Given the description of an element on the screen output the (x, y) to click on. 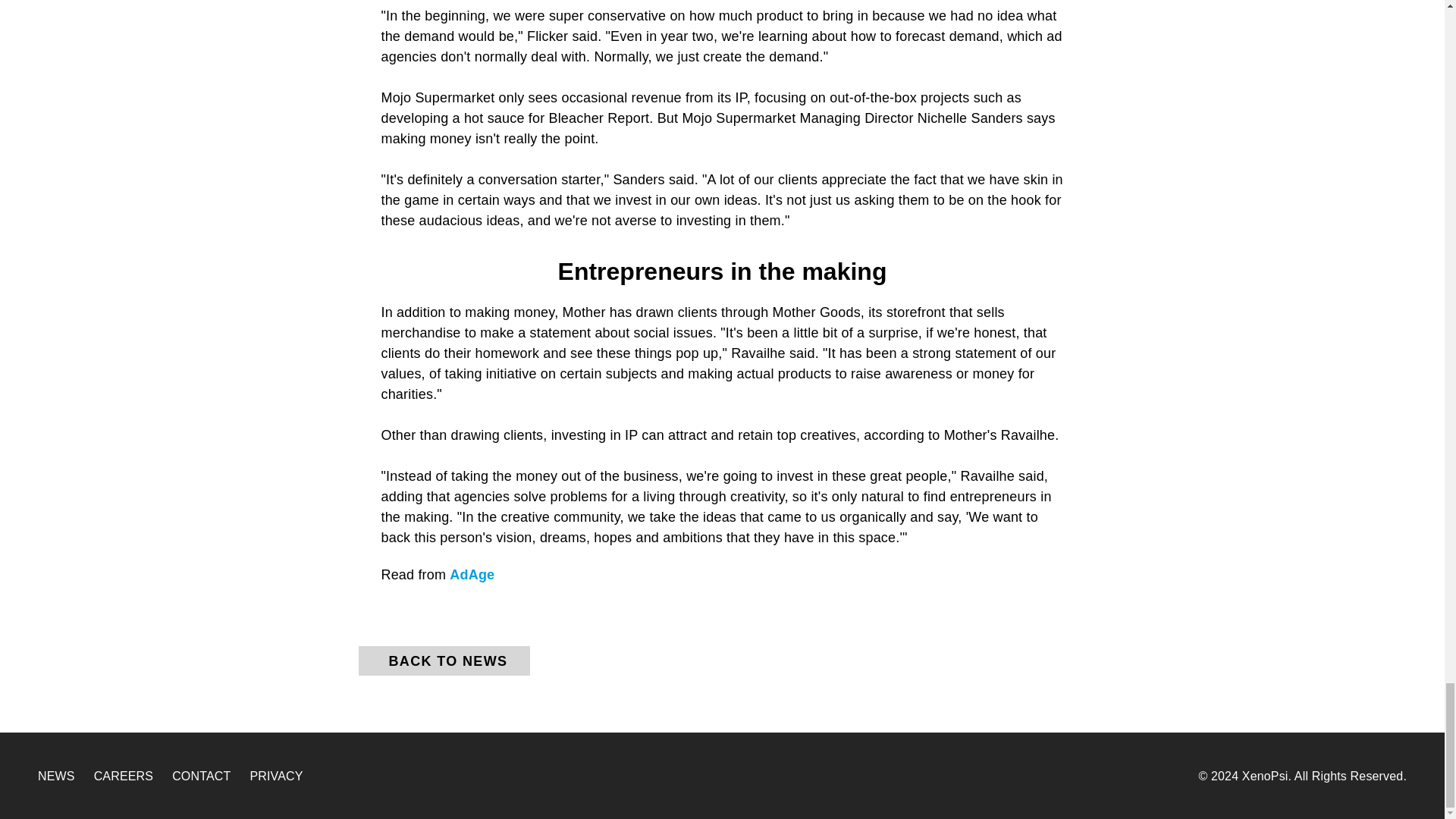
AdAge (472, 574)
PRIVACY (275, 776)
CONTACT (200, 776)
BACK TO NEWS (443, 660)
NEWS (56, 776)
CAREERS (123, 776)
